Given the description of an element on the screen output the (x, y) to click on. 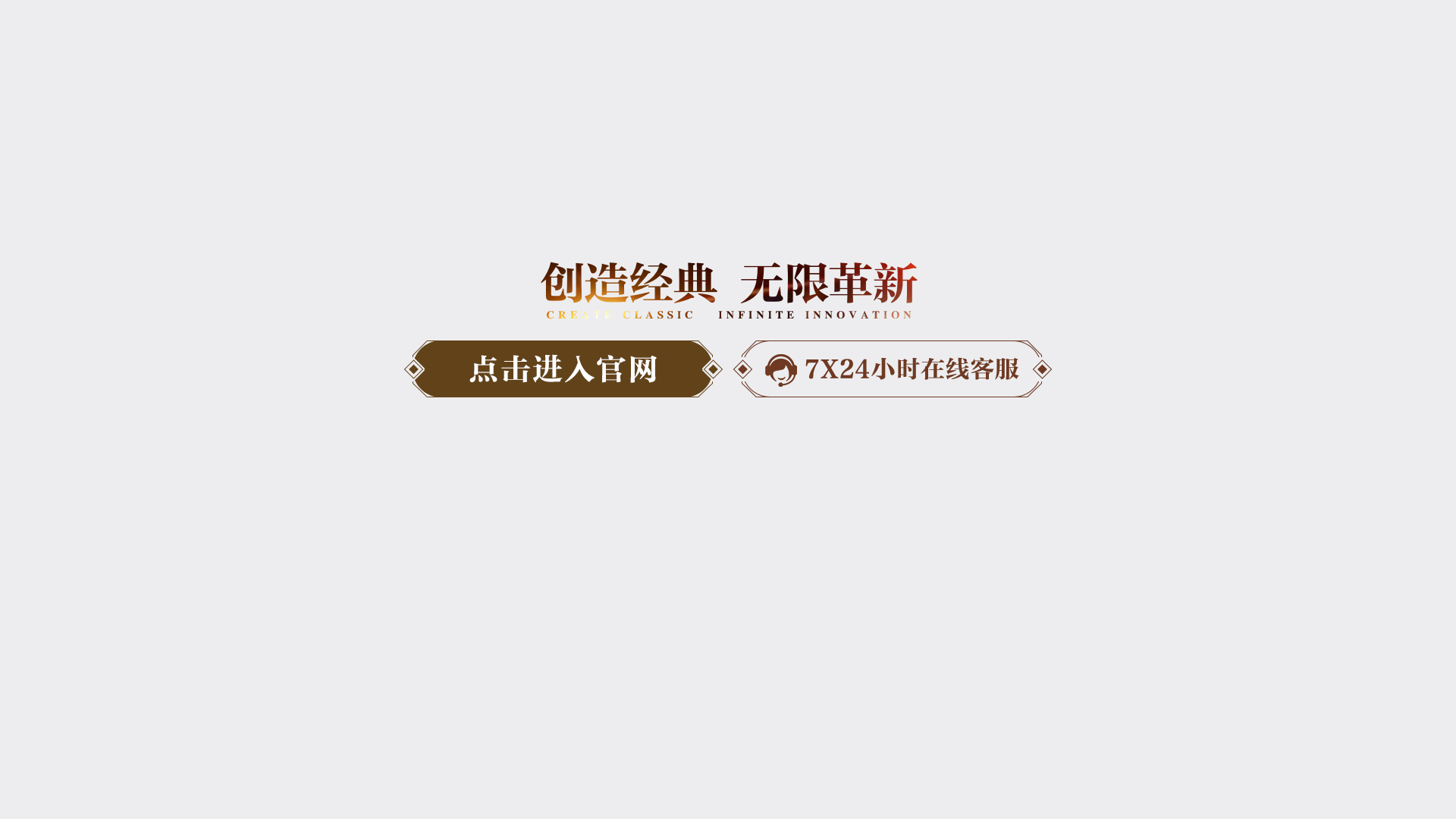
Click to enter Element type: text (727, 639)
